Given the description of an element on the screen output the (x, y) to click on. 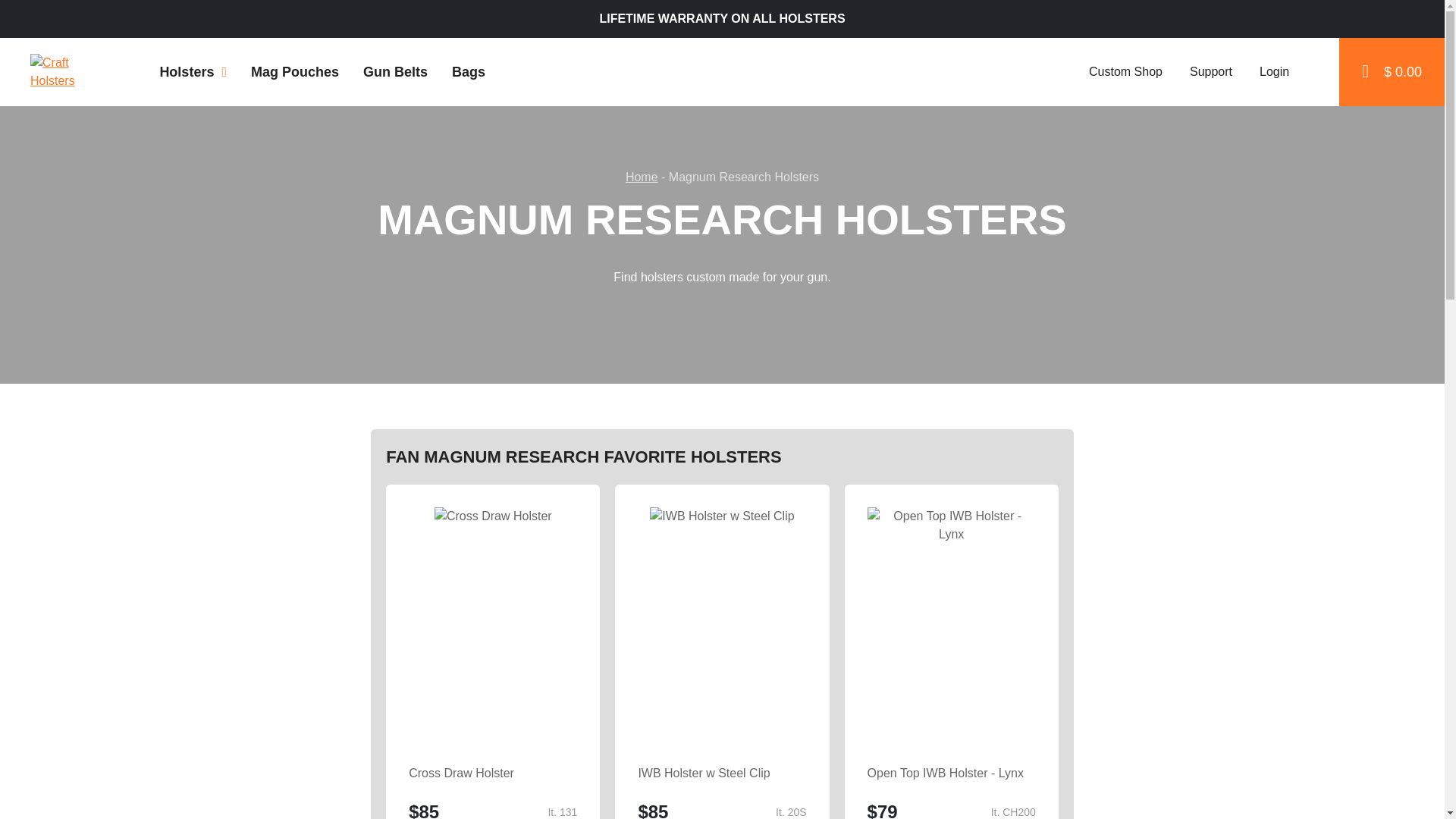
Login (1272, 71)
Custom Shop (1124, 71)
Bags (468, 71)
Gun Belts (394, 71)
Holsters (192, 71)
Mag Pouches (294, 71)
Support (1209, 71)
Home (642, 176)
